Given the description of an element on the screen output the (x, y) to click on. 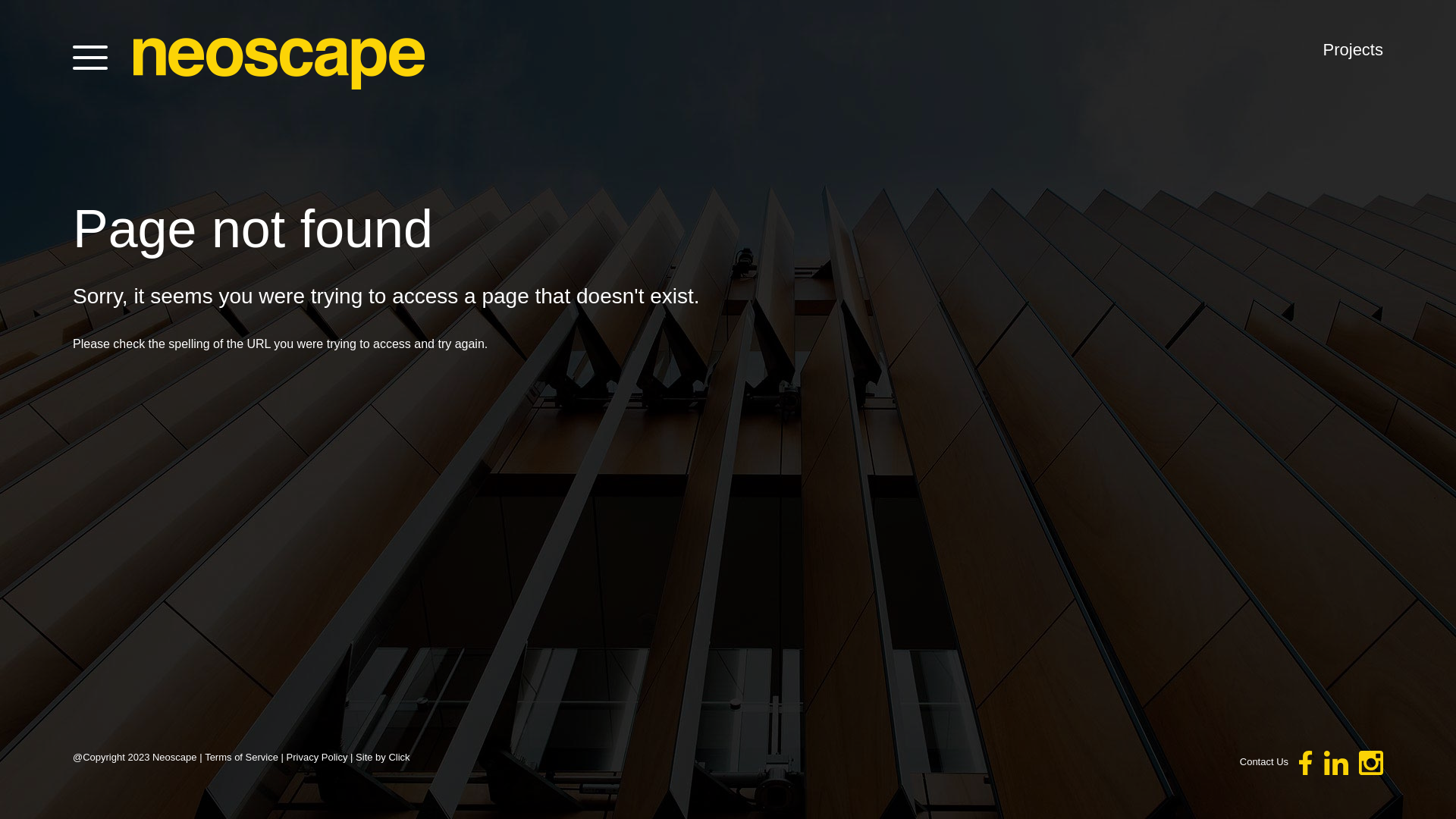
Privacy Policy Element type: text (317, 756)
Projects Element type: text (1353, 49)
Contact Us Element type: text (1263, 761)
Terms of Service Element type: text (241, 756)
Site by Click Element type: text (382, 756)
